Given the description of an element on the screen output the (x, y) to click on. 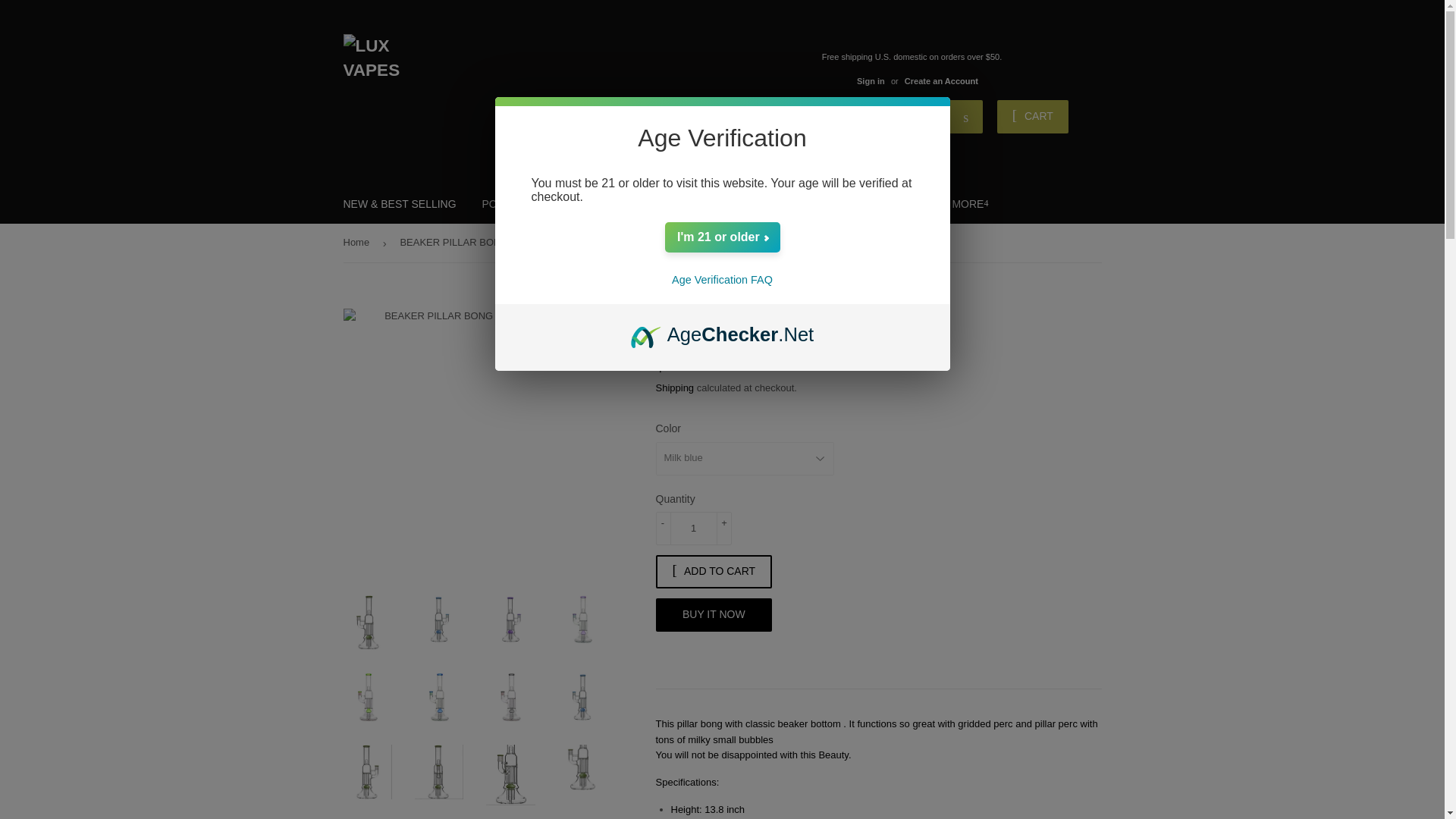
Sign in (871, 80)
Search (965, 117)
CART (1032, 116)
1 (692, 528)
Create an Account (941, 80)
